Given the description of an element on the screen output the (x, y) to click on. 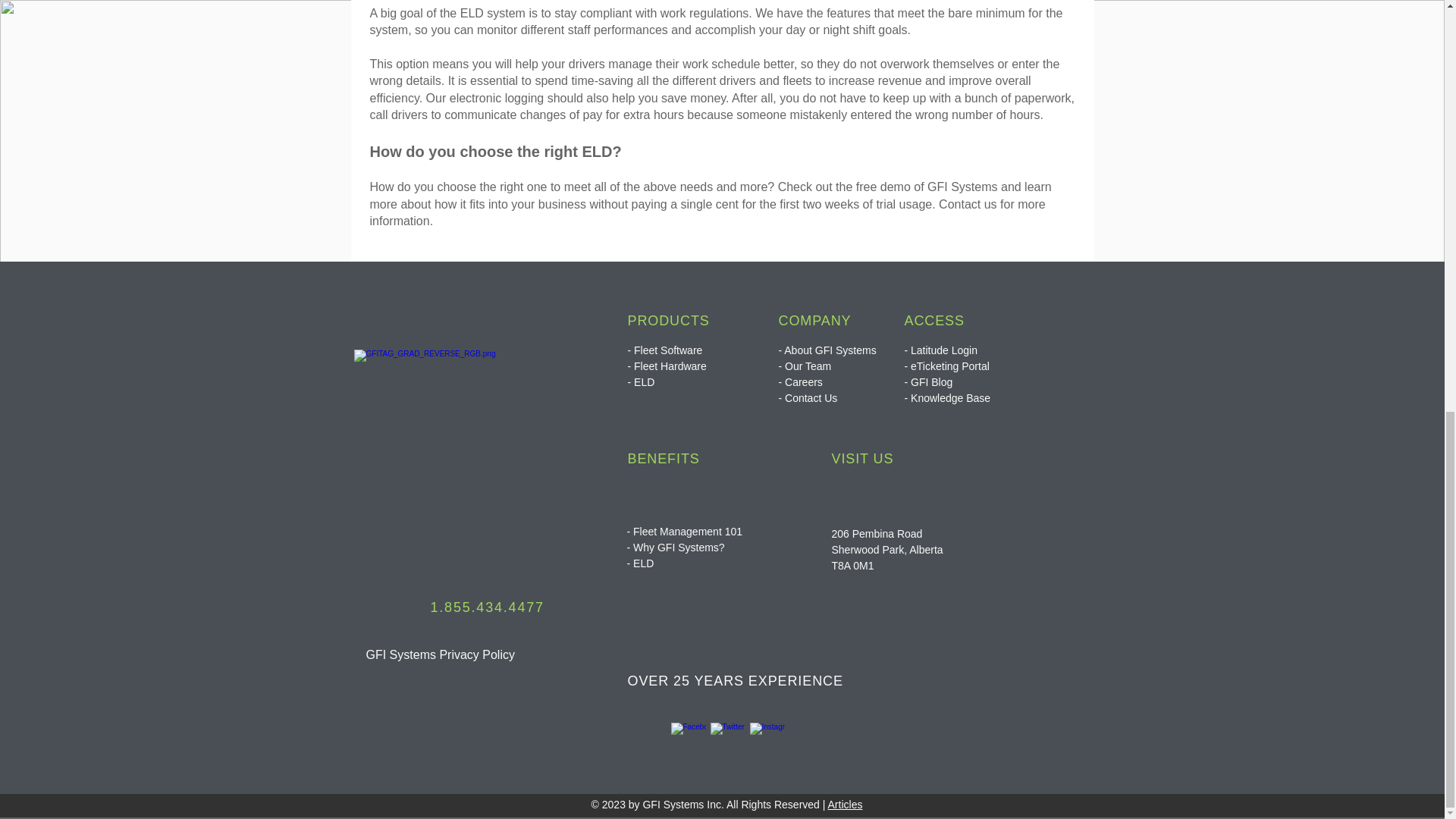
- Fleet Management 101 (684, 531)
free demo of GFI Systems (926, 186)
- Latitude Login (940, 349)
- Careers (799, 381)
Contact us (969, 204)
- Why GFI Systems? (674, 547)
- Contact Us (807, 398)
- Knowledge Base (947, 398)
ELD  (644, 563)
Fleet Software (667, 349)
